Given the description of an element on the screen output the (x, y) to click on. 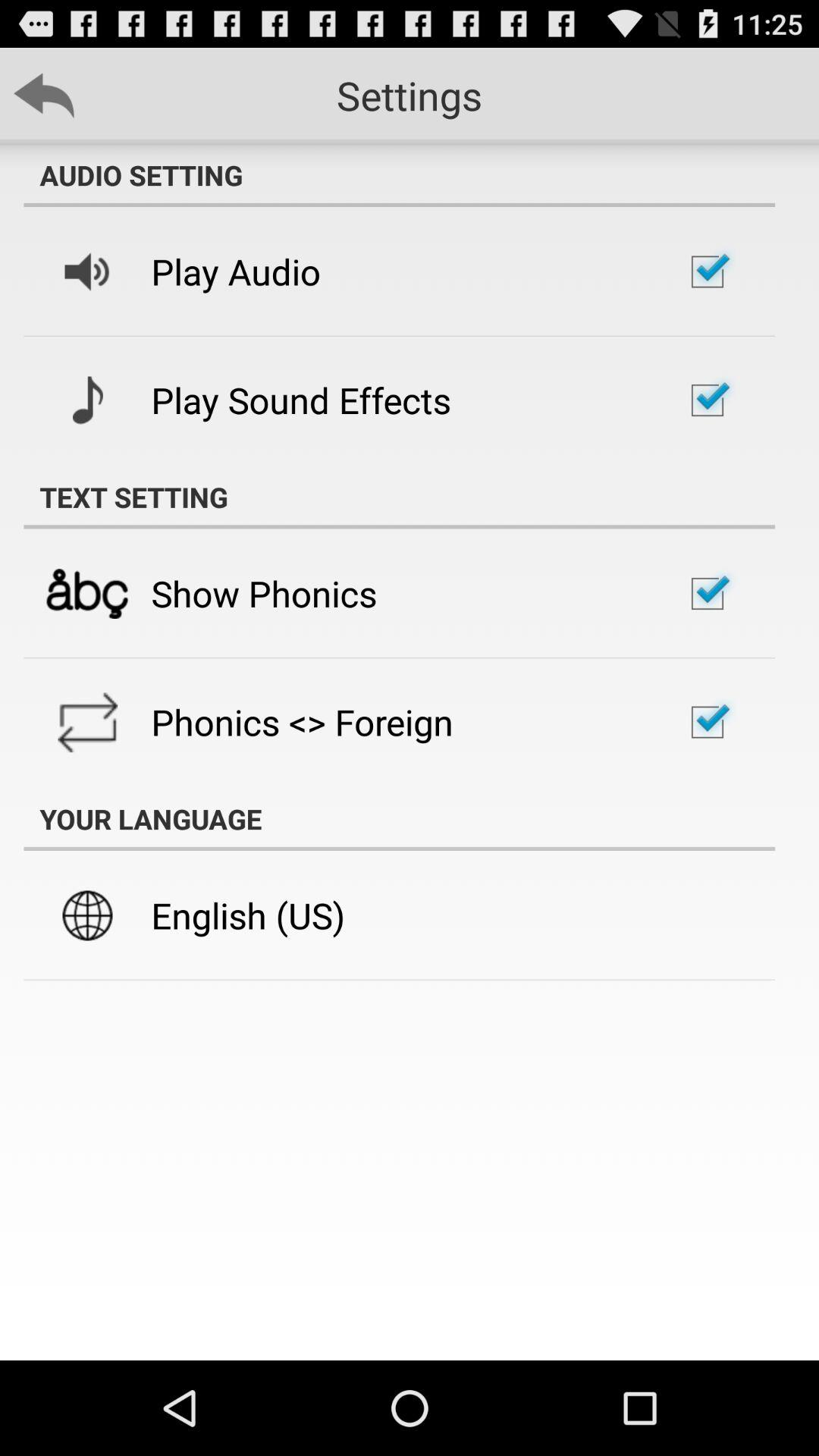
flip until english (us) (248, 915)
